Given the description of an element on the screen output the (x, y) to click on. 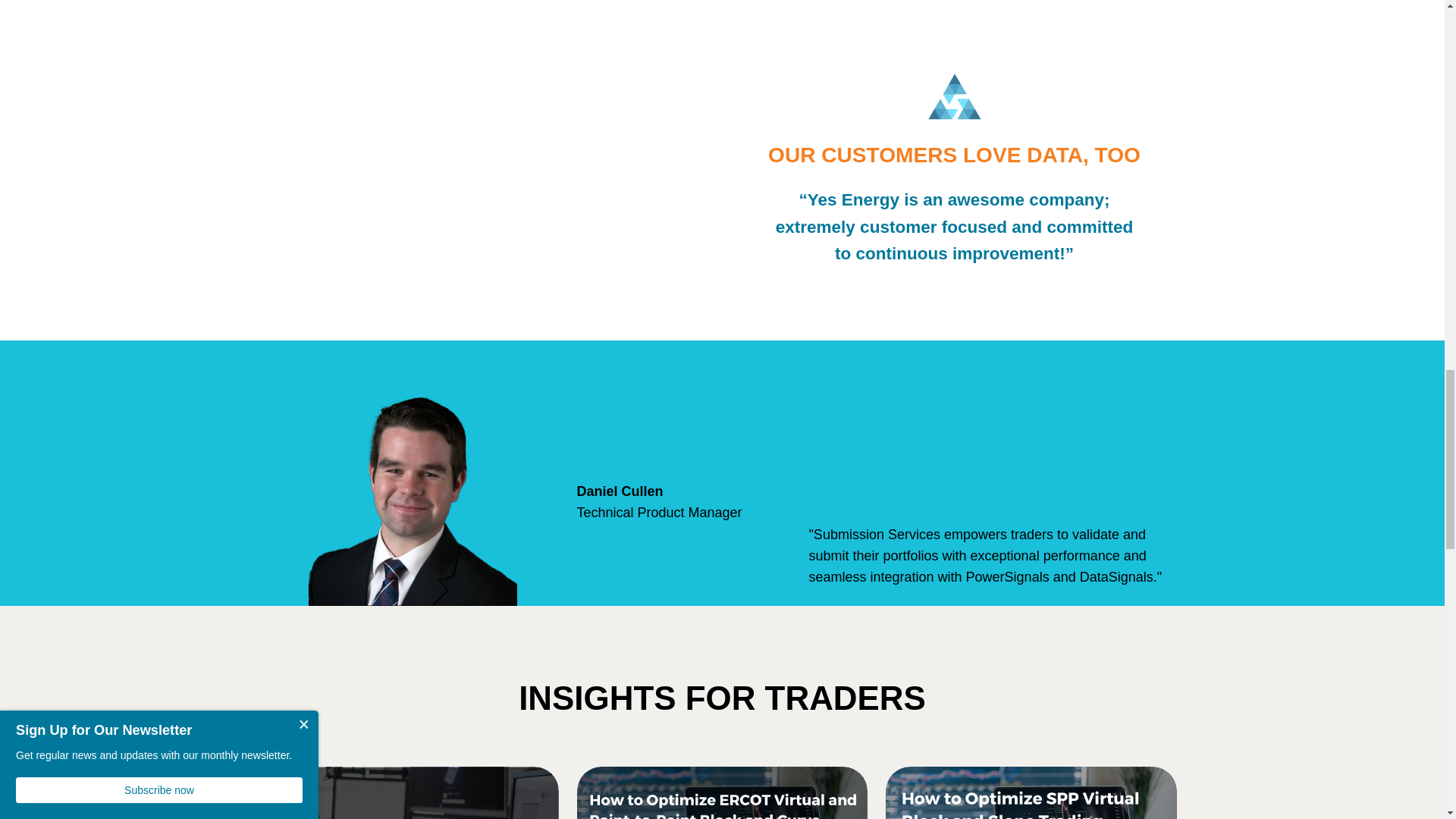
HubSpot Video (489, 188)
